Given the description of an element on the screen output the (x, y) to click on. 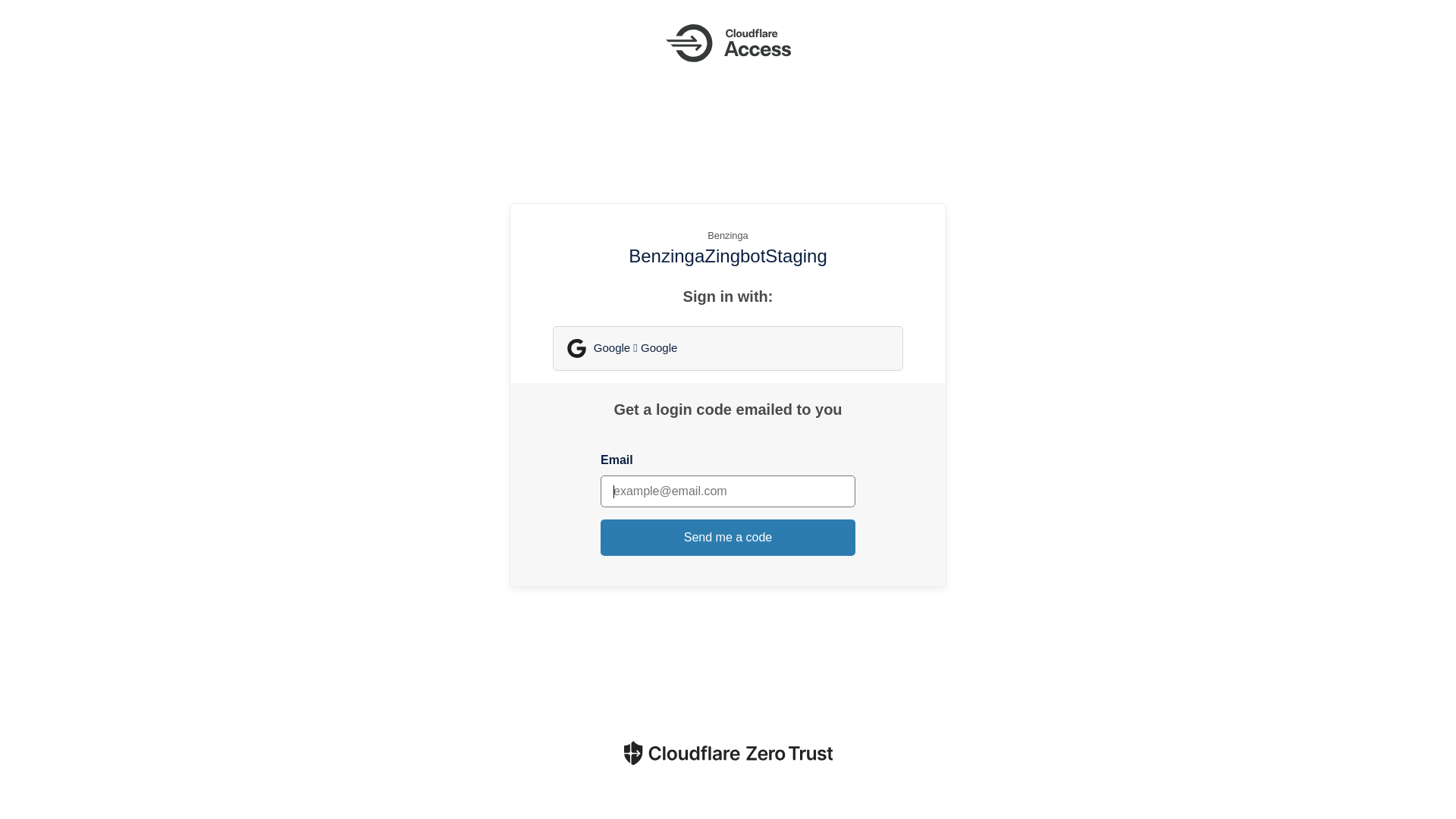
Send me a code Element type: text (727, 537)
Benzinga Element type: text (727, 235)
